Given the description of an element on the screen output the (x, y) to click on. 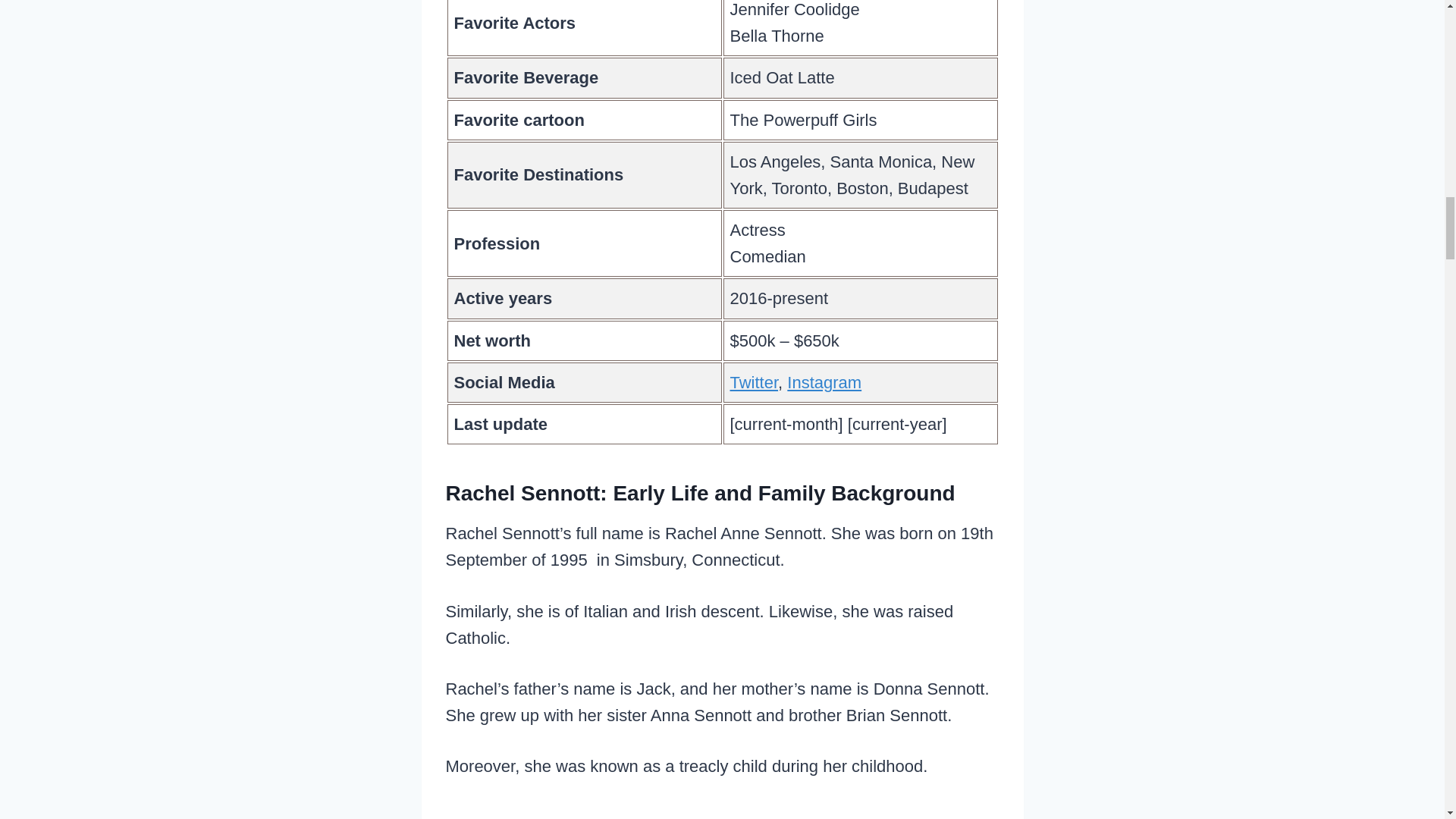
Instagram (824, 382)
Twitter (753, 382)
